Given the description of an element on the screen output the (x, y) to click on. 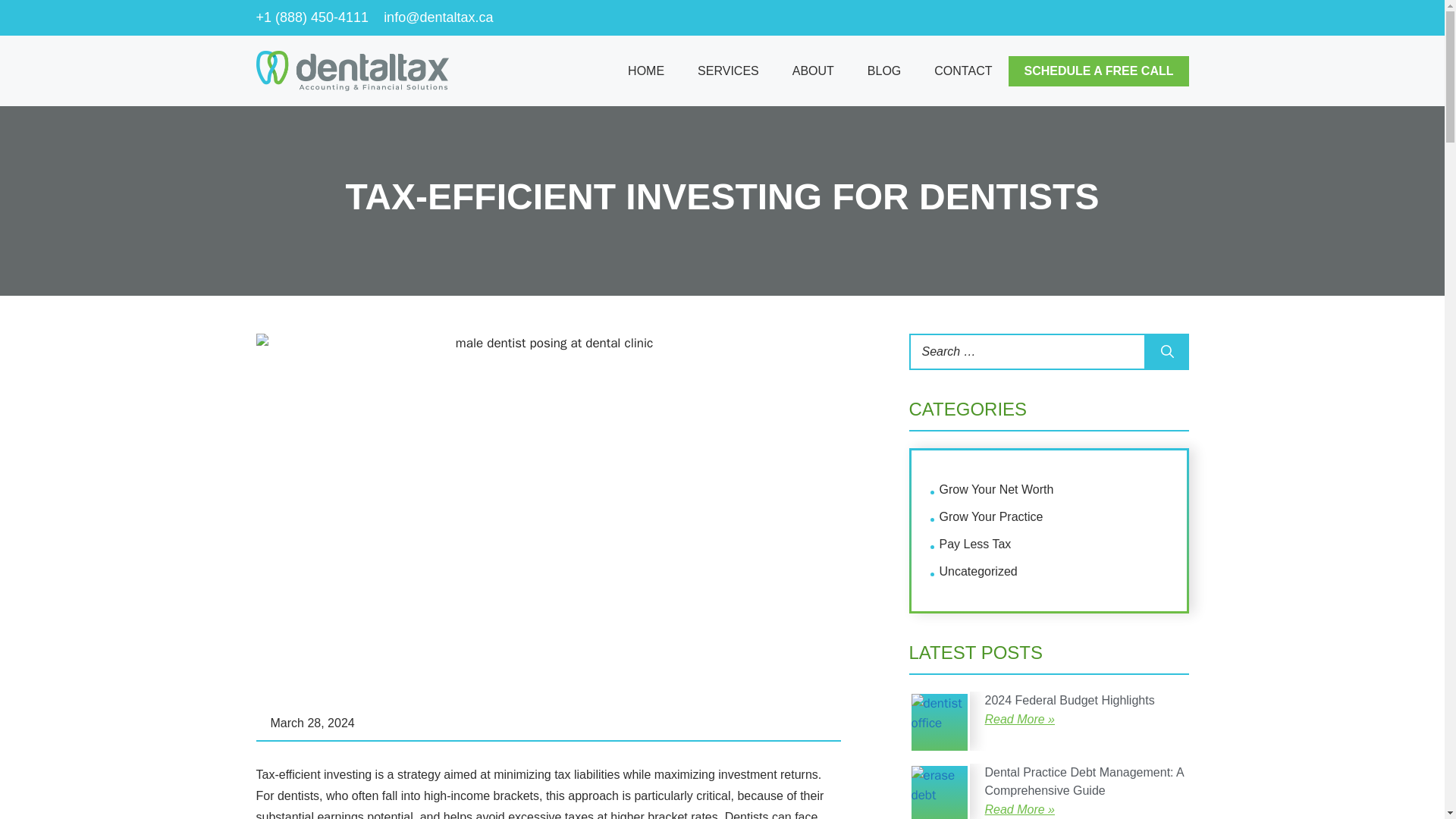
BLOG (883, 70)
Search for: (1026, 351)
SERVICES (728, 70)
HOME (646, 70)
ABOUT (813, 70)
